Given the description of an element on the screen output the (x, y) to click on. 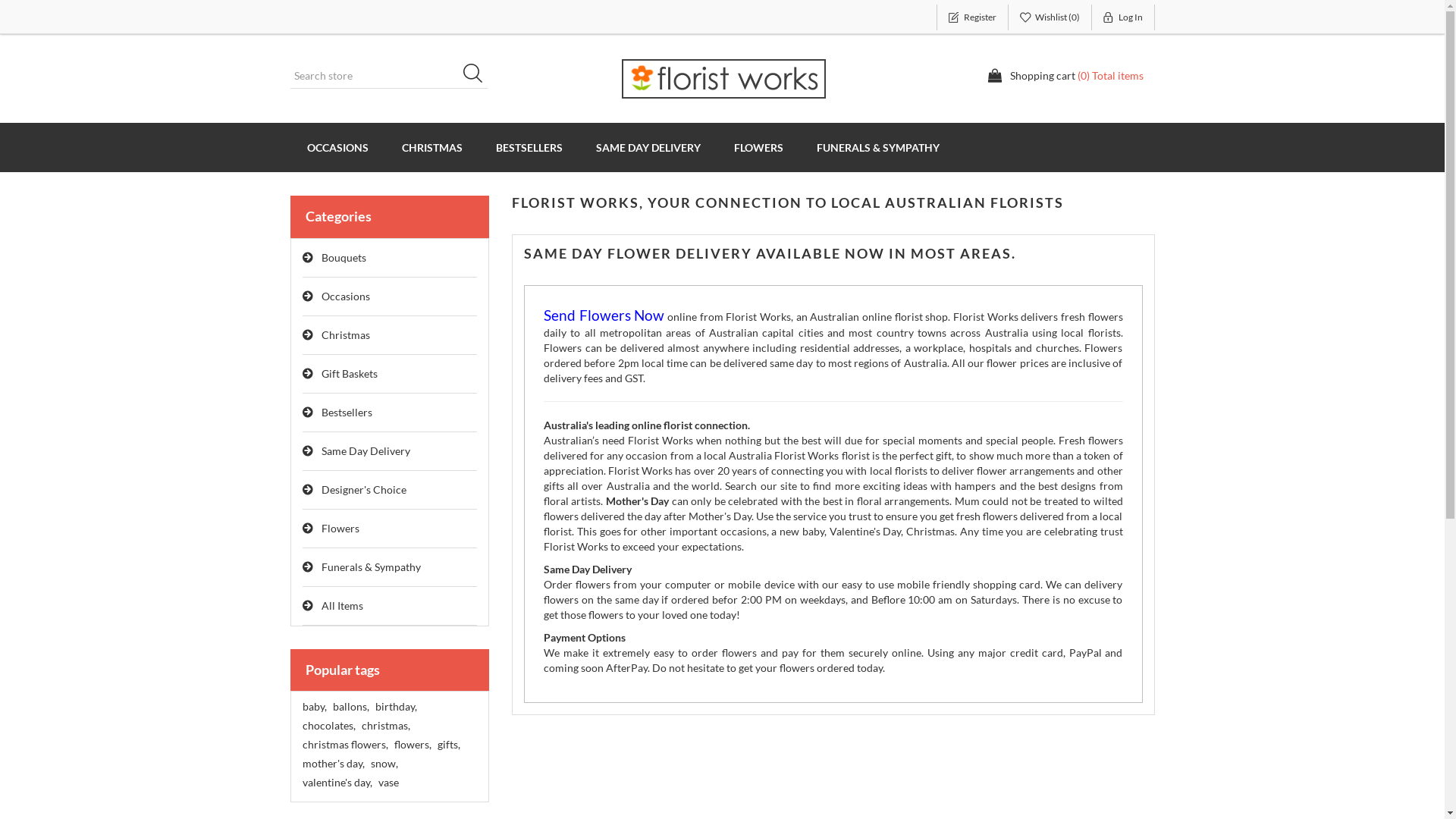
SAME DAY DELIVERY Element type: text (648, 147)
chocolates, Element type: text (327, 725)
BESTSELLERS Element type: text (529, 147)
baby, Element type: text (313, 706)
FLOWERS Element type: text (758, 147)
birthday, Element type: text (395, 706)
mother's day, Element type: text (332, 763)
Bestsellers Element type: text (388, 412)
Log In Element type: text (1123, 17)
Designer's Choice Element type: text (388, 489)
vase Element type: text (387, 782)
Christmas Element type: text (388, 335)
valentine's day, Element type: text (336, 782)
Same Day Delivery Element type: text (388, 451)
All Items Element type: text (388, 605)
gifts, Element type: text (447, 744)
ballons, Element type: text (350, 706)
flowers, Element type: text (412, 744)
CHRISTMAS Element type: text (432, 147)
Register Element type: text (971, 17)
Gift Baskets Element type: text (388, 373)
Funerals & Sympathy Element type: text (388, 567)
snow, Element type: text (383, 763)
christmas flowers, Element type: text (344, 744)
FUNERALS & SYMPATHY Element type: text (877, 147)
OCCASIONS Element type: text (336, 147)
Occasions Element type: text (388, 296)
Send Flowers Now Element type: text (603, 316)
Bouquets Element type: text (388, 257)
Wishlist (0) Element type: text (1050, 17)
Shopping cart (0) Total items Element type: text (1065, 75)
christmas, Element type: text (384, 725)
Flowers Element type: text (388, 528)
